Given the description of an element on the screen output the (x, y) to click on. 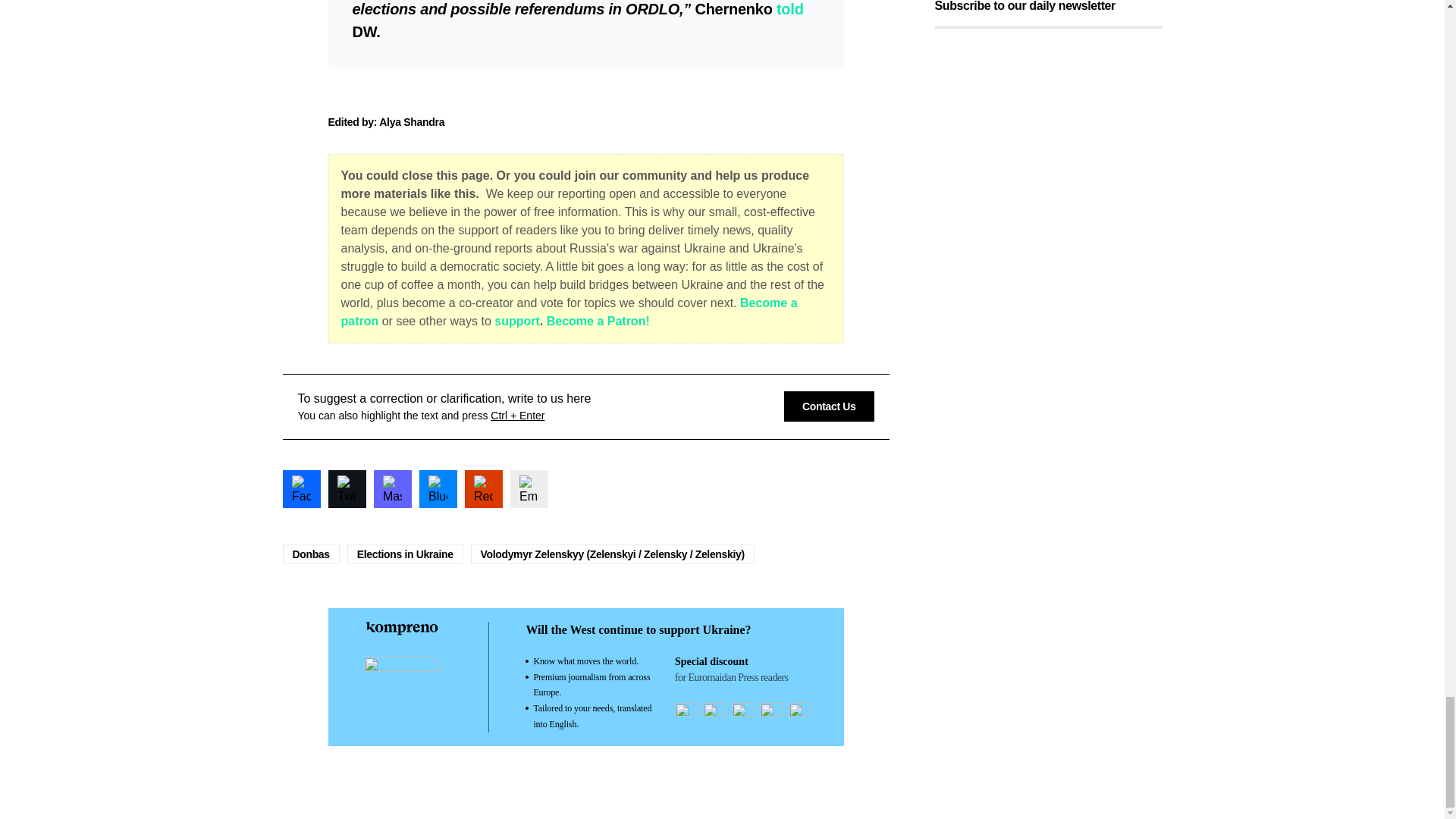
Share to Bluesky (438, 488)
Share to Twitter (346, 488)
Share to Email (528, 488)
Share to Reddit (483, 488)
Share to Mastodon (391, 488)
Share to Facebook (301, 488)
